Given the description of an element on the screen output the (x, y) to click on. 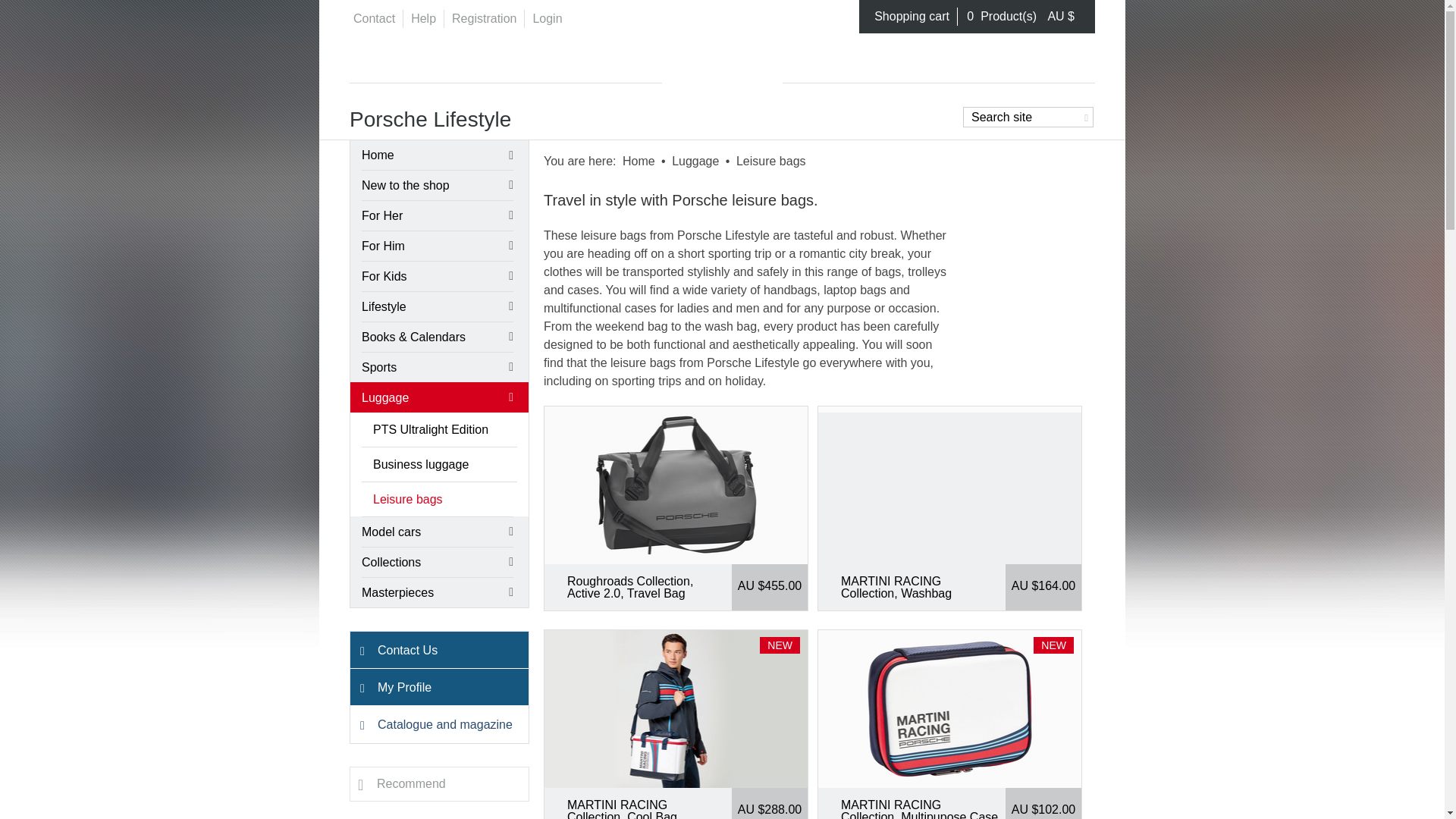
Search site (1027, 117)
Home (639, 160)
Home (437, 154)
Contact (373, 18)
Registration (483, 18)
Home (721, 61)
Login (547, 18)
For Him (437, 245)
submit (1084, 114)
New to the shop (437, 184)
Search site (1027, 117)
Luggage (695, 160)
Help (422, 18)
For Her (437, 214)
